Given the description of an element on the screen output the (x, y) to click on. 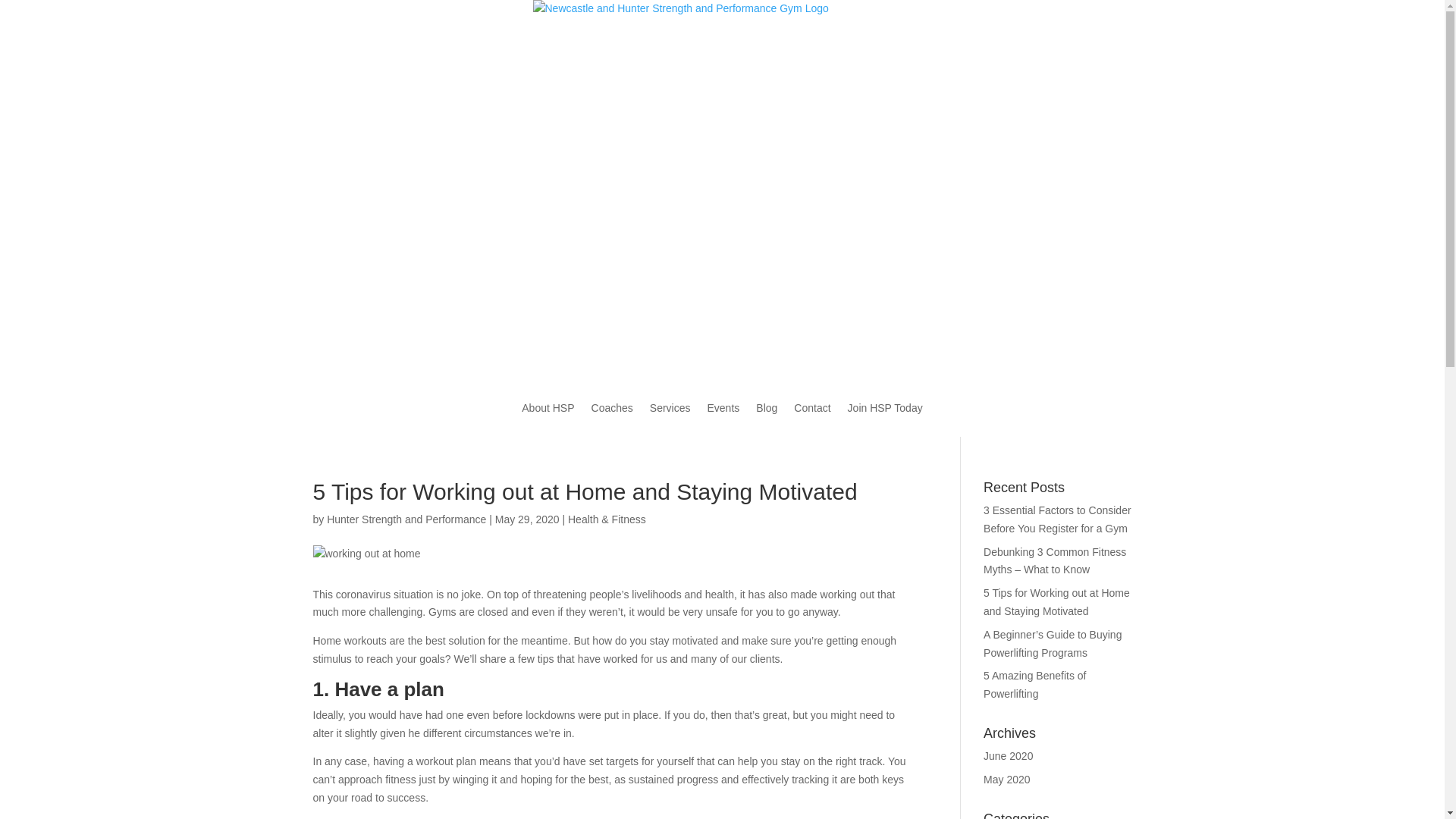
Services Element type: text (669, 407)
Contact Element type: text (811, 407)
May 2020 Element type: text (1006, 779)
Hunter Strength and Performance Element type: text (406, 519)
5 Amazing Benefits of Powerlifting Element type: text (1034, 684)
June 2020 Element type: text (1007, 755)
Join HSP Today Element type: text (884, 407)
5 Tips for Working out at Home and Staying Motivated Element type: text (1056, 601)
Events Element type: text (722, 407)
Coaches Element type: text (612, 407)
Blog Element type: text (766, 407)
About HSP Element type: text (547, 407)
Health & Fitness Element type: text (606, 519)
